Given the description of an element on the screen output the (x, y) to click on. 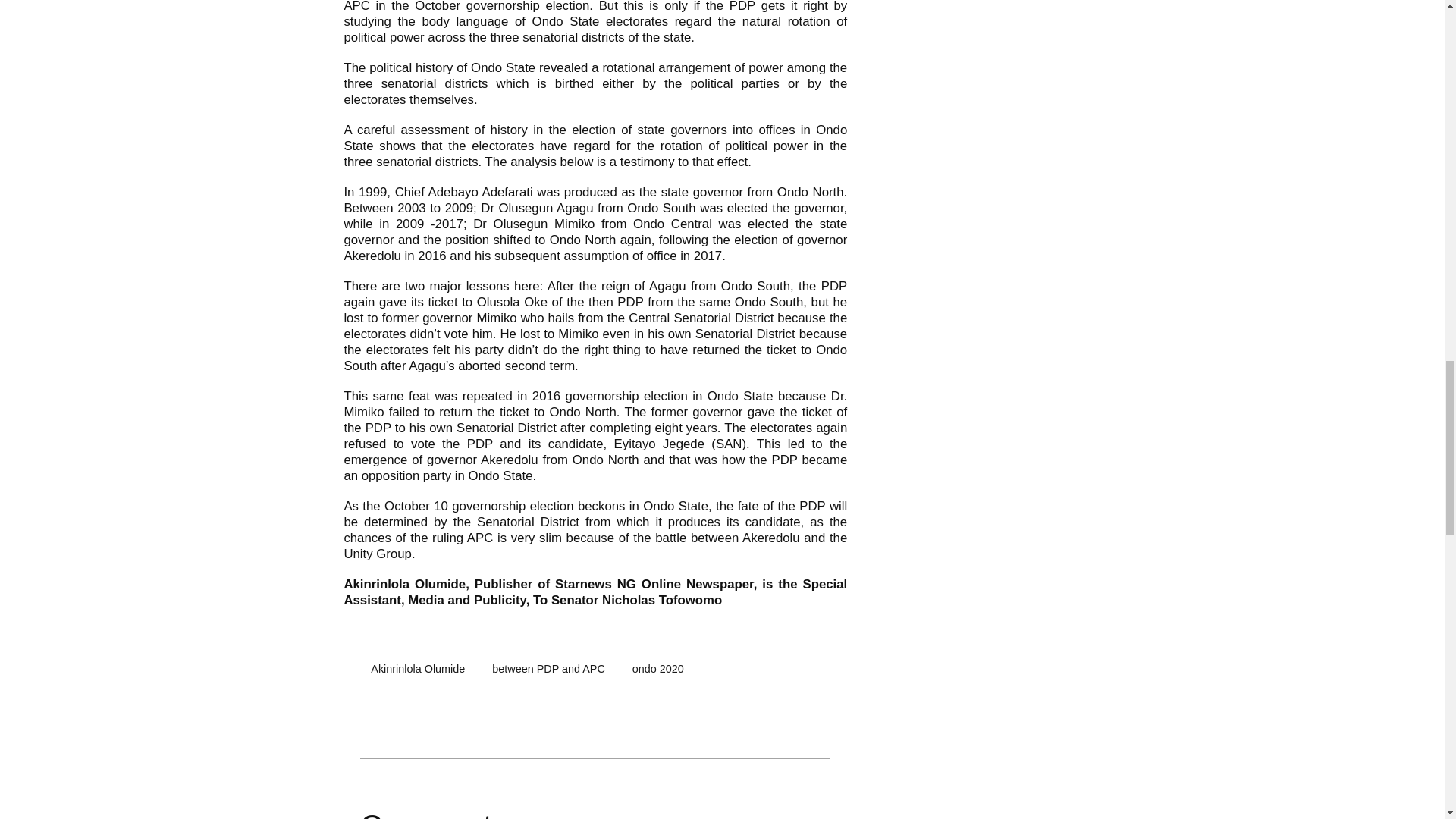
between PDP and APC (548, 668)
Akinrinlola Olumide (417, 668)
ondo 2020 (657, 668)
